Given the description of an element on the screen output the (x, y) to click on. 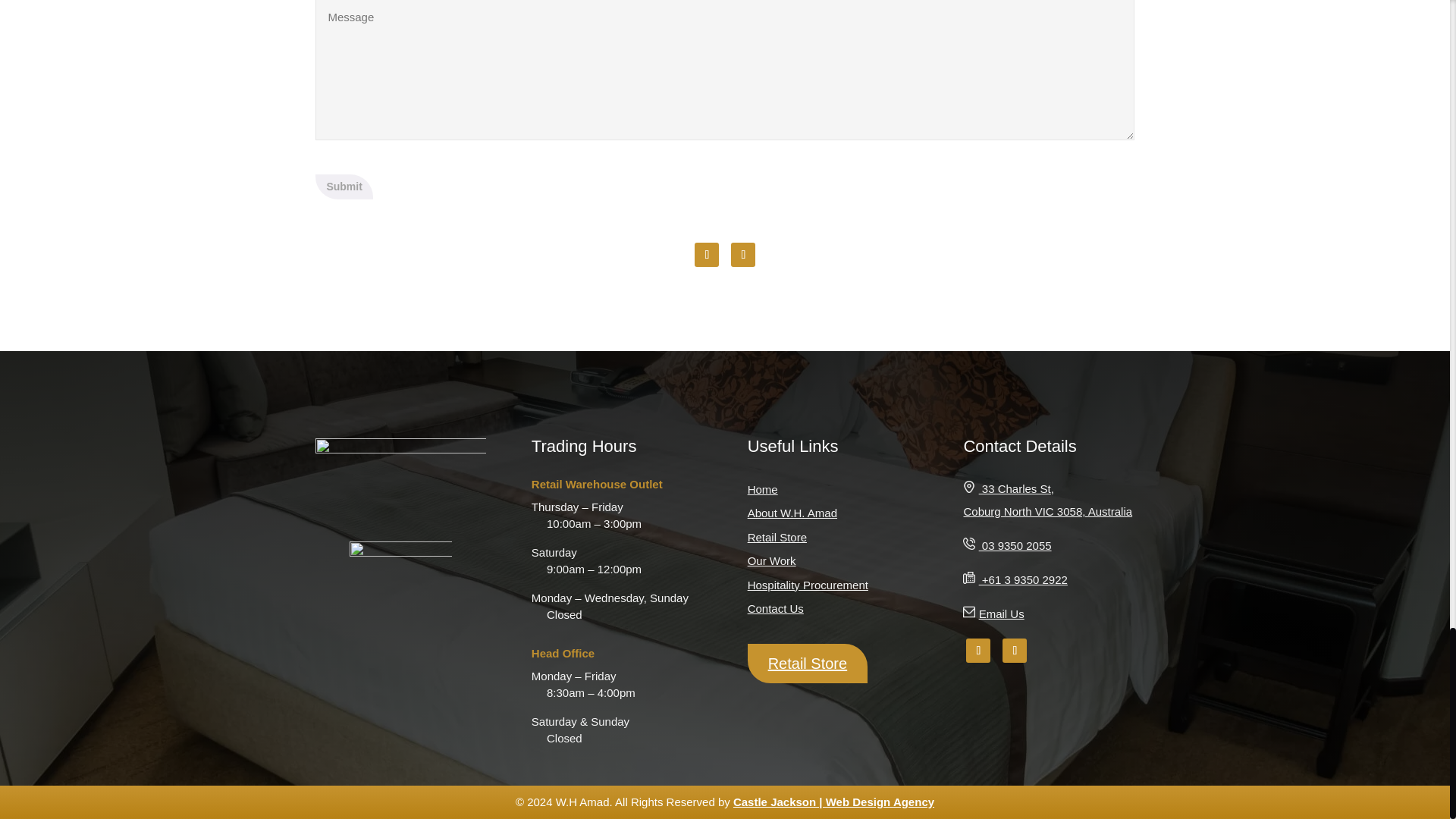
Follow on LinkedIn (1014, 650)
Follow on LinkedIn (742, 254)
Follow on Facebook (706, 254)
Submit (343, 186)
Follow on Facebook (978, 650)
footer-logo-1 (400, 570)
